Given the description of an element on the screen output the (x, y) to click on. 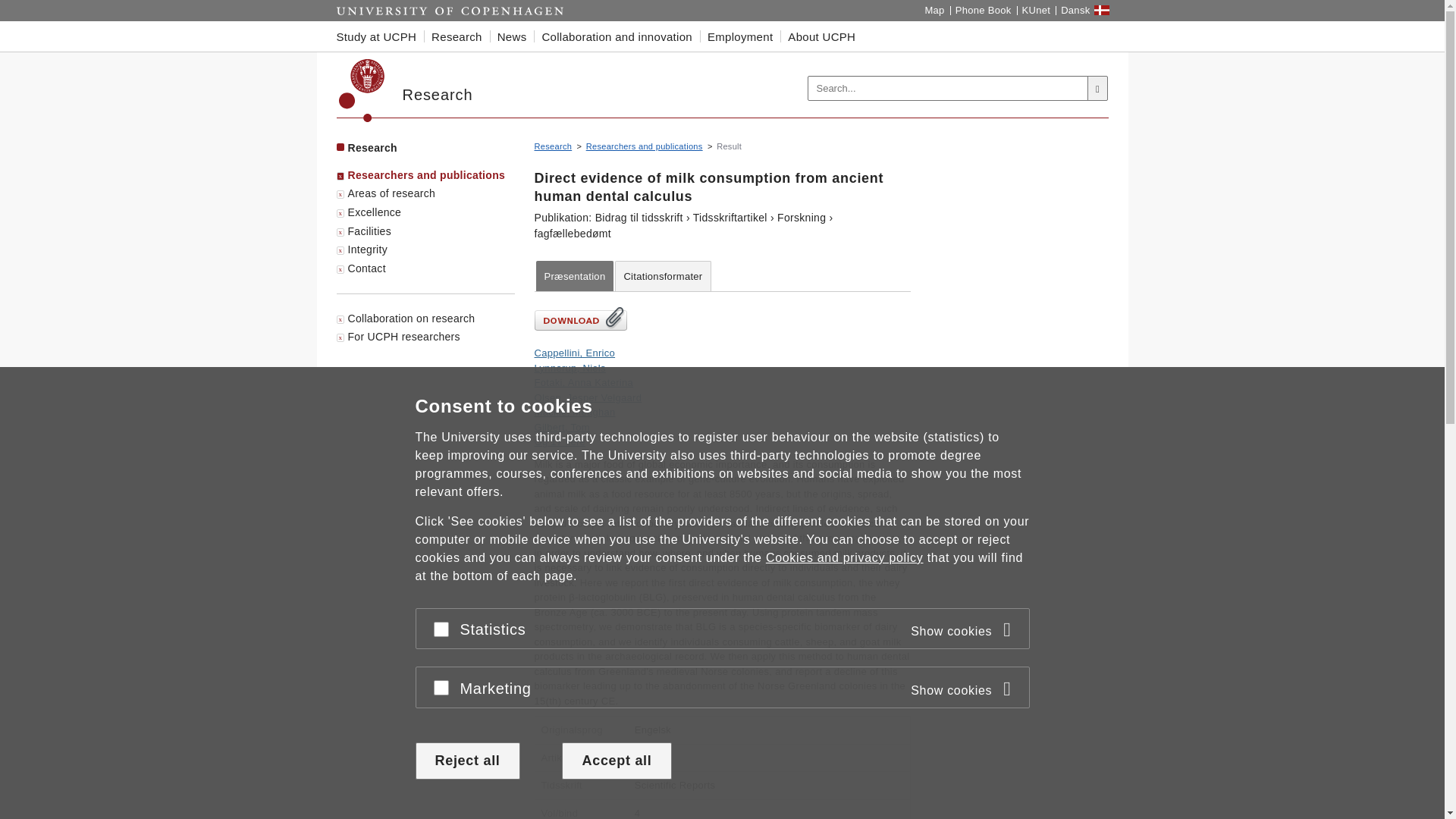
Start (450, 10)
Search researchers and publications (644, 145)
